Given the description of an element on the screen output the (x, y) to click on. 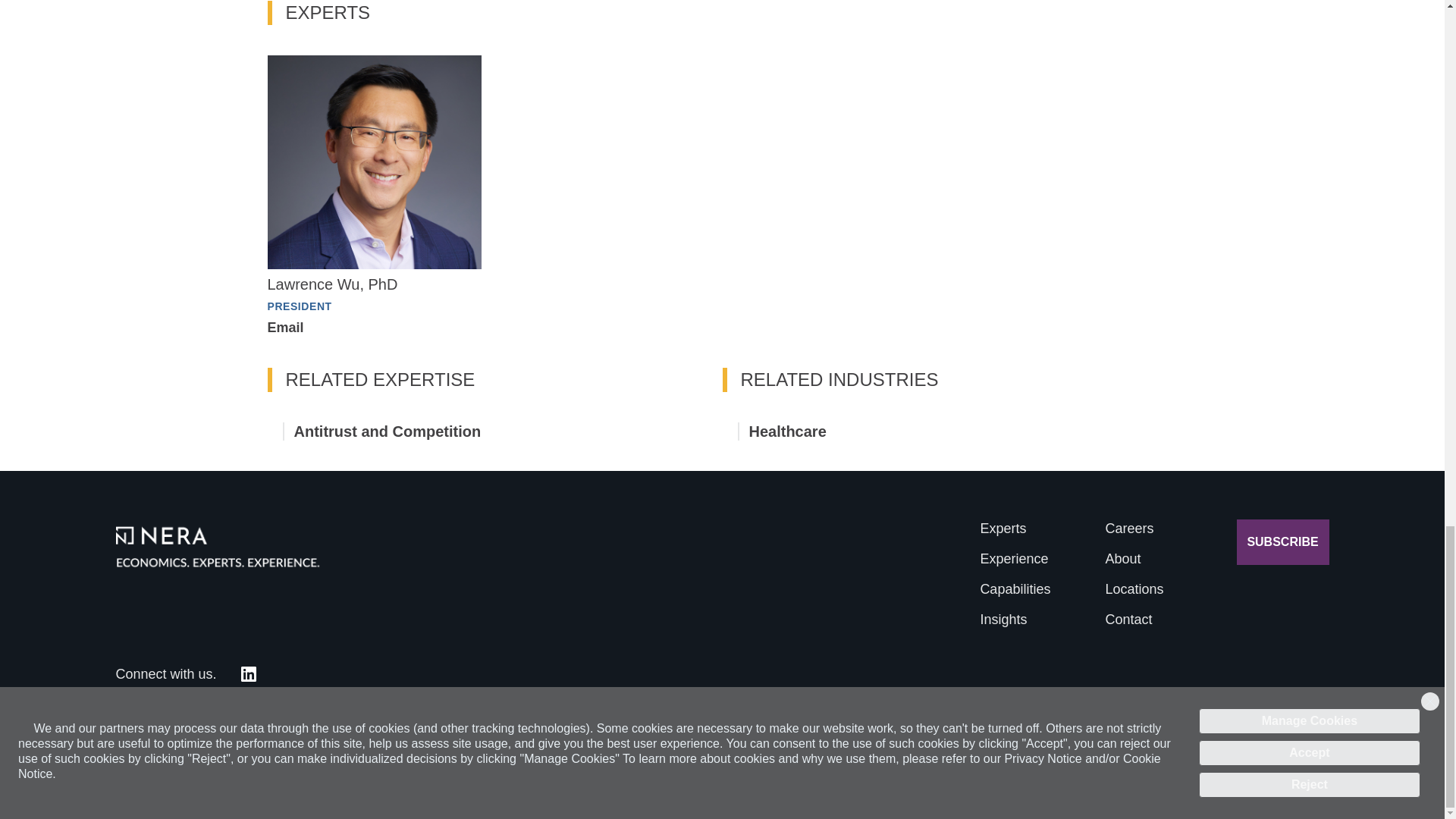
Locations (1134, 589)
Careers (1129, 528)
Email (284, 327)
Antitrust and Competition (387, 431)
MANAGE COOKIES (1276, 763)
COOKIES NOTICE (1155, 763)
TERMS OF USE (925, 763)
Healthcare (788, 431)
Lawrence Wu, PhD (1281, 542)
Experience (331, 284)
Insights (1013, 558)
Contact (1002, 619)
Capabilities (1128, 619)
PRIVACY NOTICE (1014, 589)
